Given the description of an element on the screen output the (x, y) to click on. 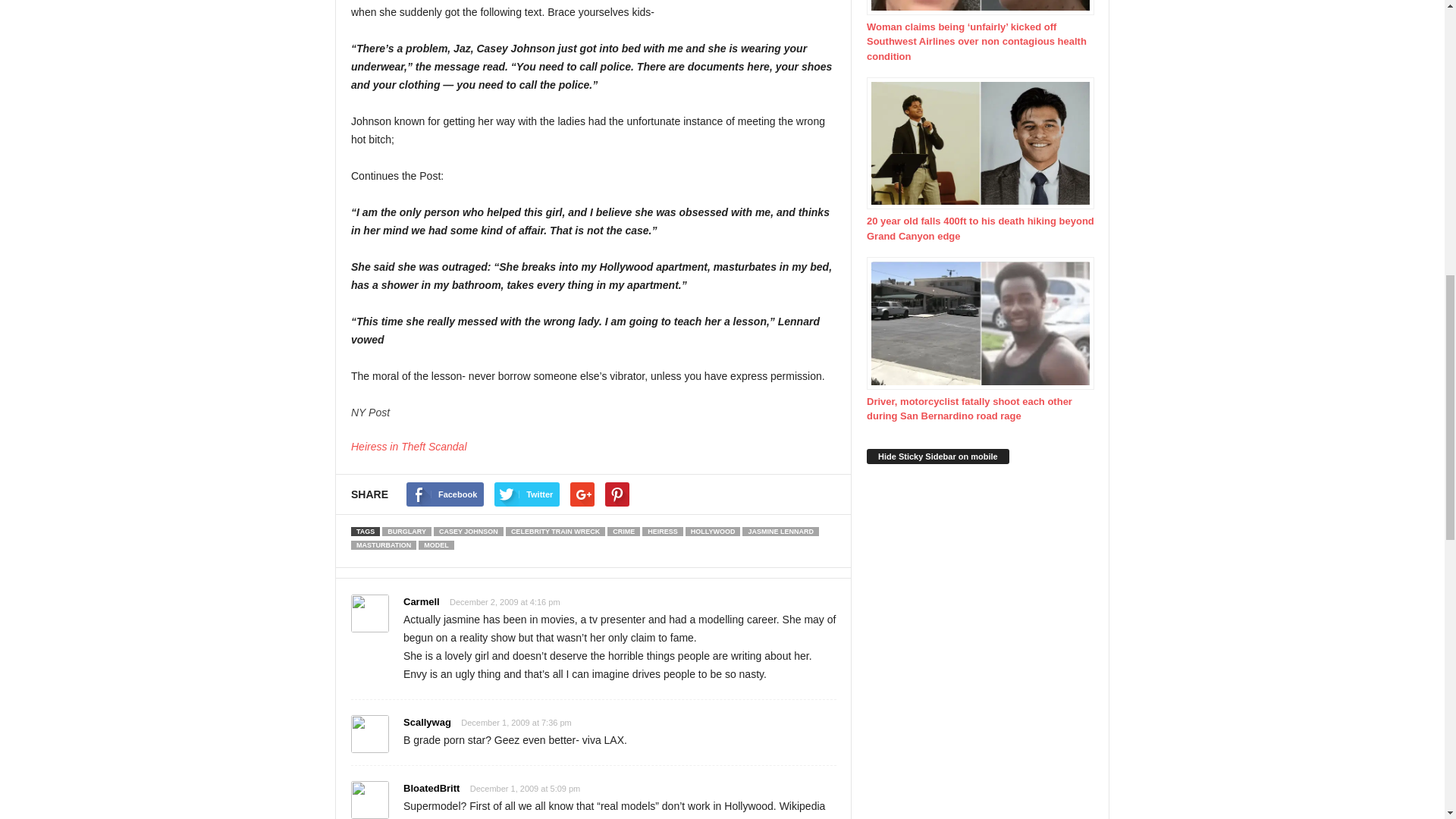
Facebook (444, 494)
Twitter (527, 494)
Heiress in Theft Scandal (408, 446)
